Given the description of an element on the screen output the (x, y) to click on. 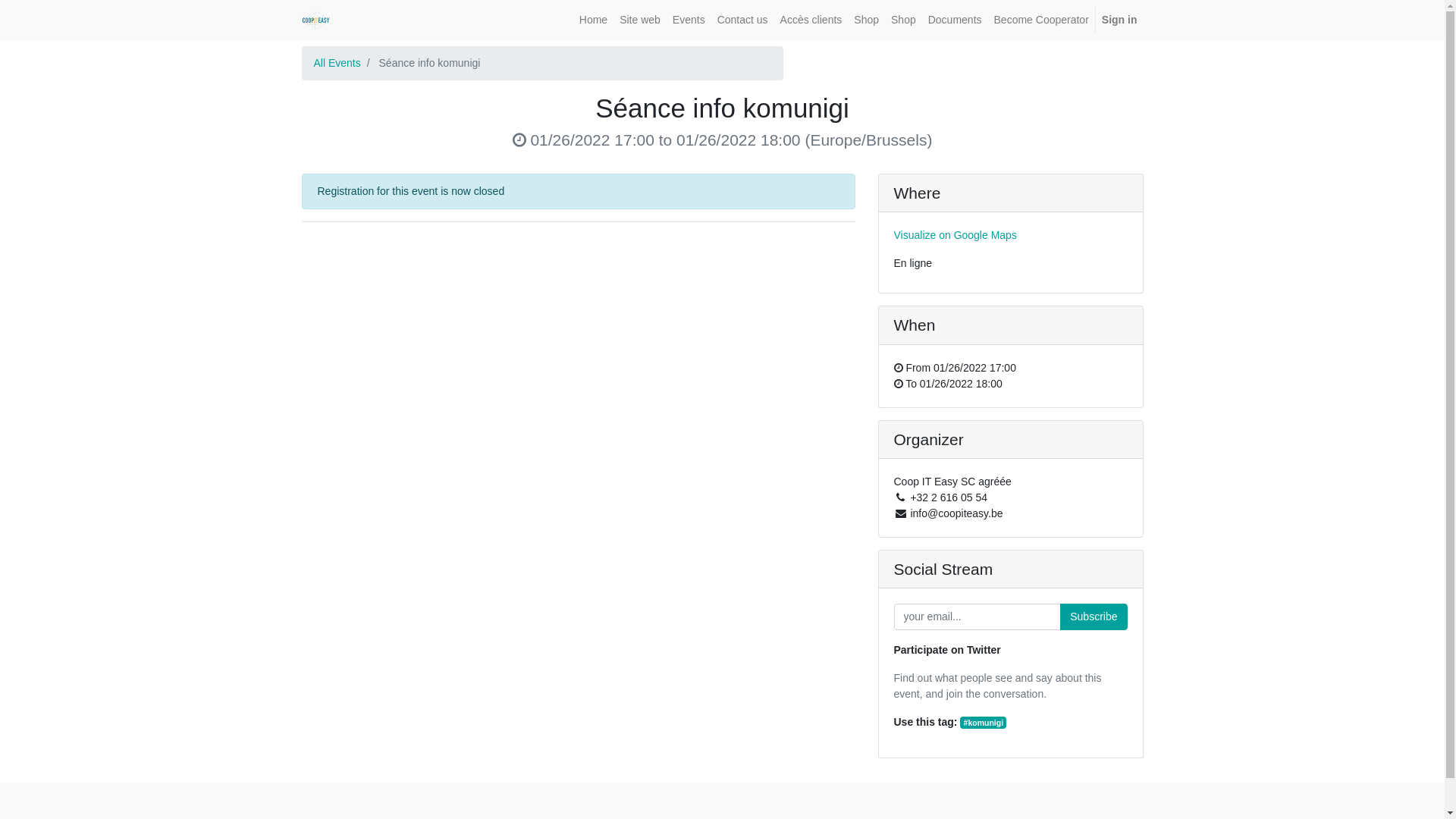
Subscribe Element type: text (1093, 616)
Become Cooperator Element type: text (1041, 20)
Email Element type: hover (899, 513)
All Events Element type: text (336, 62)
Shop Element type: text (865, 20)
Site web Element type: text (639, 20)
Visualize on Google Maps Element type: text (954, 235)
Home Element type: text (593, 20)
Contact us Element type: text (742, 20)
Events Element type: text (688, 20)
Phone Element type: hover (899, 497)
Sign in Element type: text (1119, 20)
Start date Element type: hover (519, 139)
Documents Element type: text (955, 20)
#komunigi Element type: text (983, 722)
Shop Element type: text (903, 20)
